Given the description of an element on the screen output the (x, y) to click on. 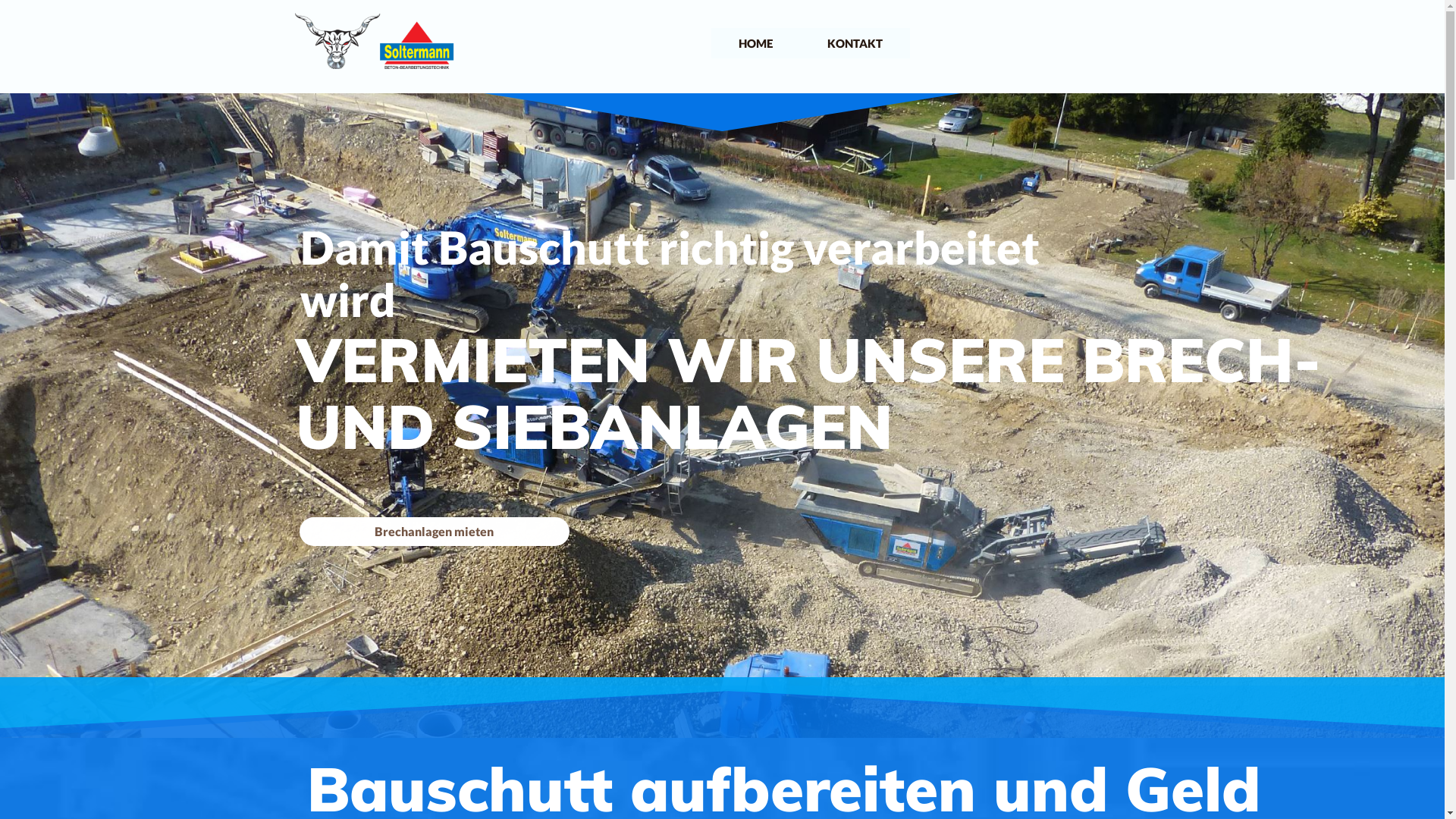
HOME Element type: text (755, 43)
KONTAKT Element type: text (855, 43)
Brechanlagen mieten Element type: text (434, 531)
